Given the description of an element on the screen output the (x, y) to click on. 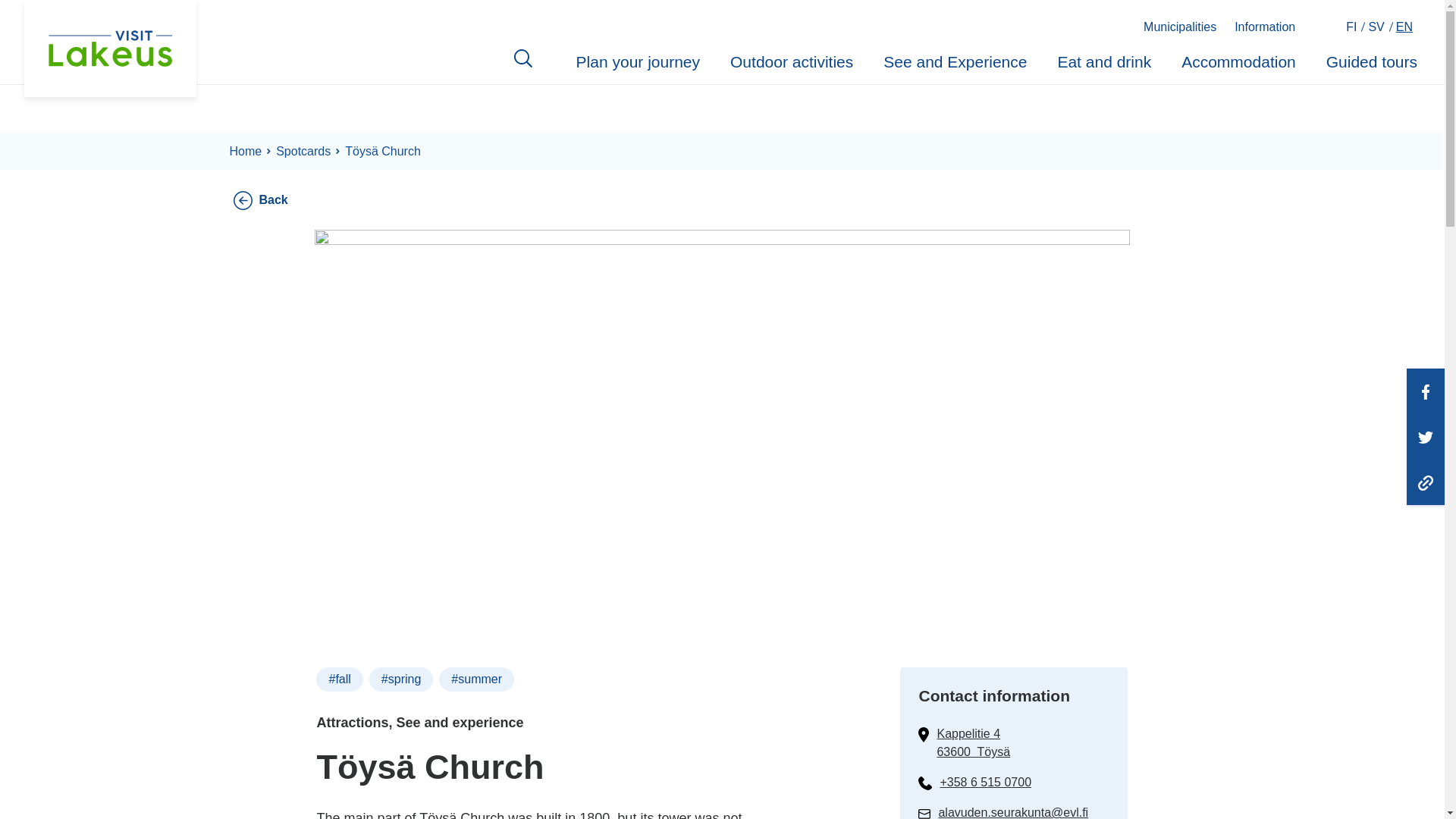
Accommodation (1237, 63)
Eat and drink (1104, 63)
SV (1377, 26)
Guided tours (1371, 63)
Outdoor activities (791, 63)
FI (1352, 26)
Spotcards (303, 151)
Back (273, 199)
Information (1264, 27)
Plan your journey (638, 63)
